Given the description of an element on the screen output the (x, y) to click on. 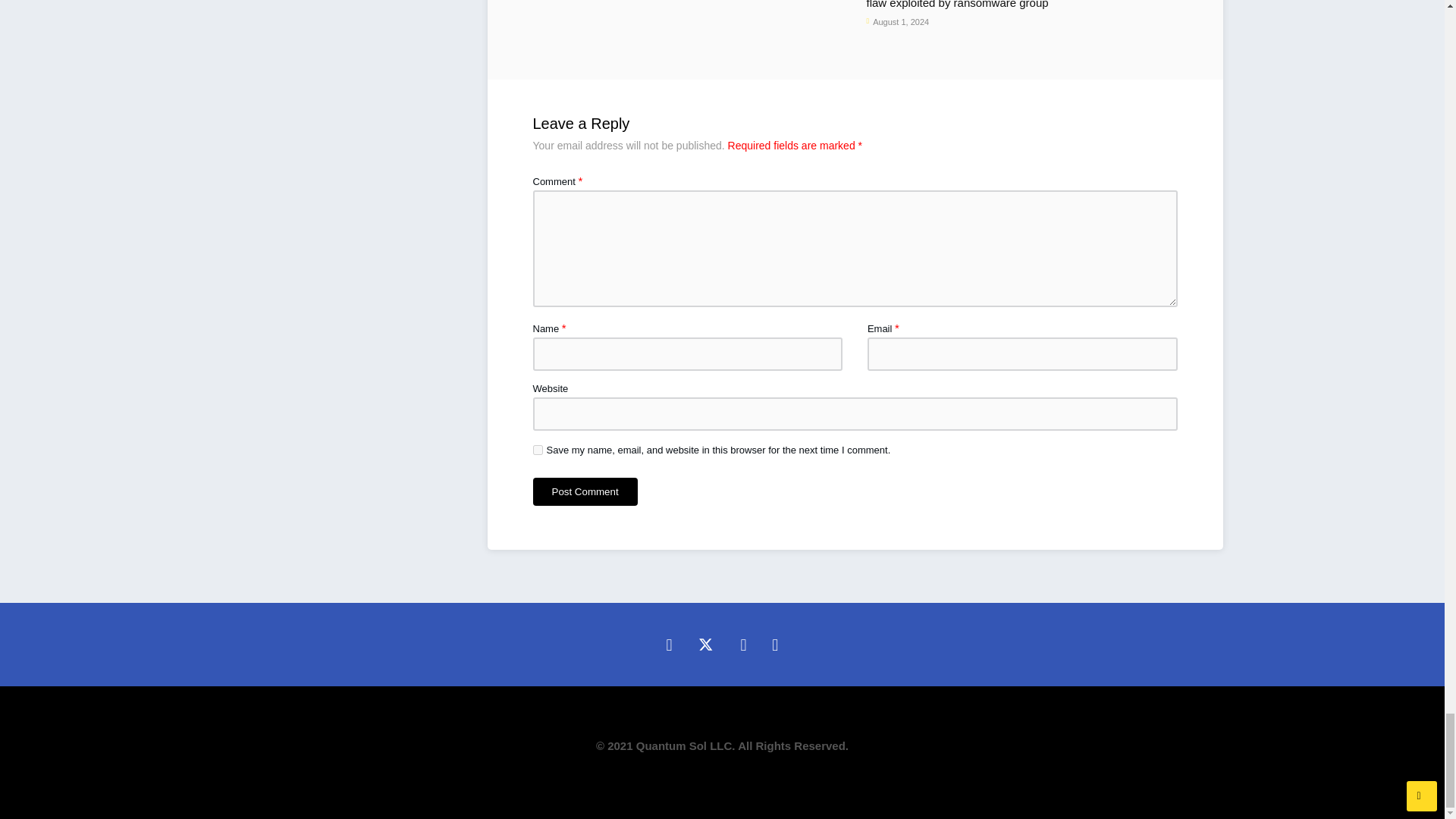
yes (536, 450)
Post Comment (584, 491)
Post Comment (584, 491)
